Given the description of an element on the screen output the (x, y) to click on. 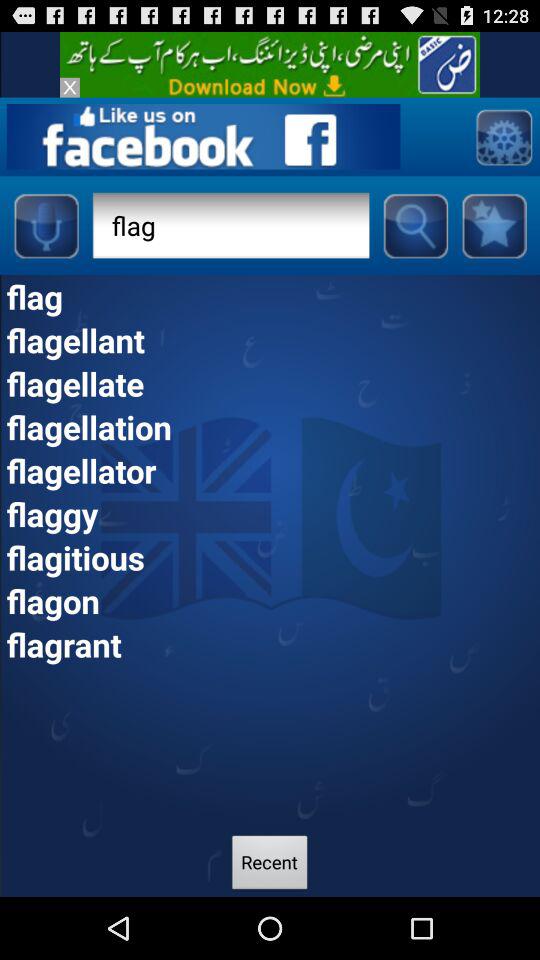
record buttin (45, 225)
